Given the description of an element on the screen output the (x, y) to click on. 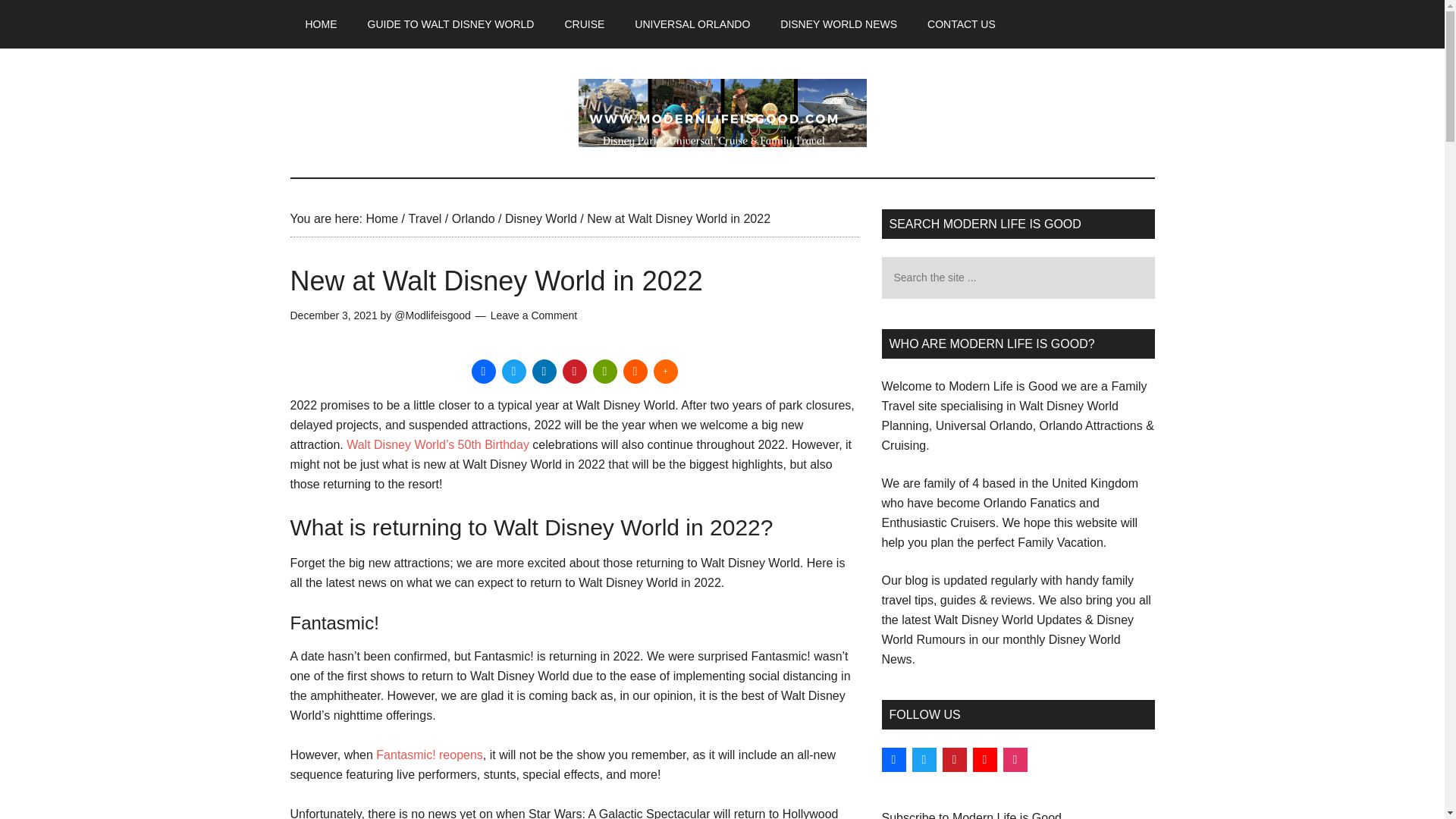
CRUISE (584, 24)
Tweet this ! (513, 371)
HOME (320, 24)
Submit this to Pinterest (574, 371)
GUIDE TO WALT DISNEY WORLD (450, 24)
Print this article  (604, 371)
Submit this to Reddit (635, 371)
